Given the description of an element on the screen output the (x, y) to click on. 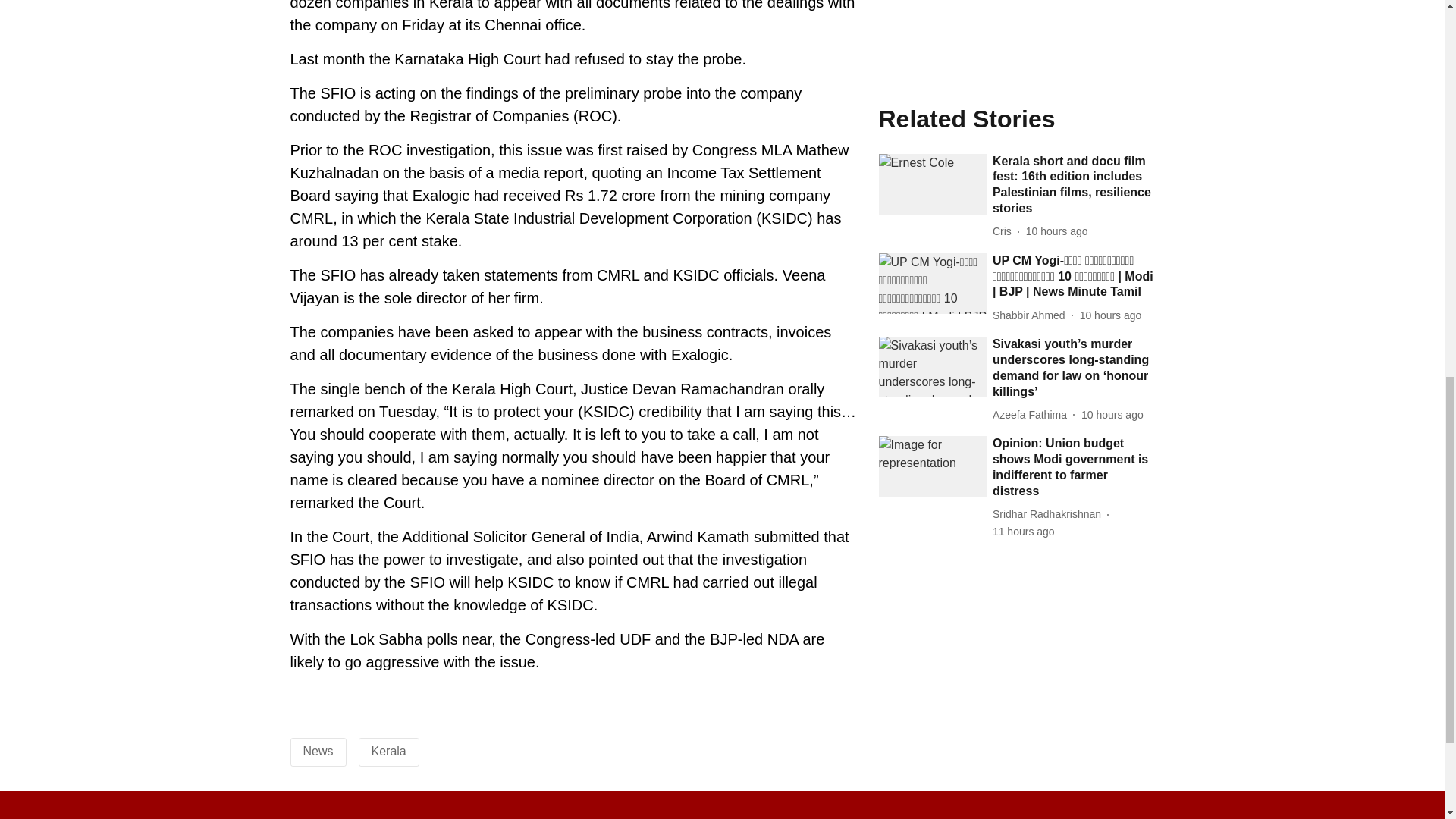
News (317, 750)
Kerala (388, 750)
